Given the description of an element on the screen output the (x, y) to click on. 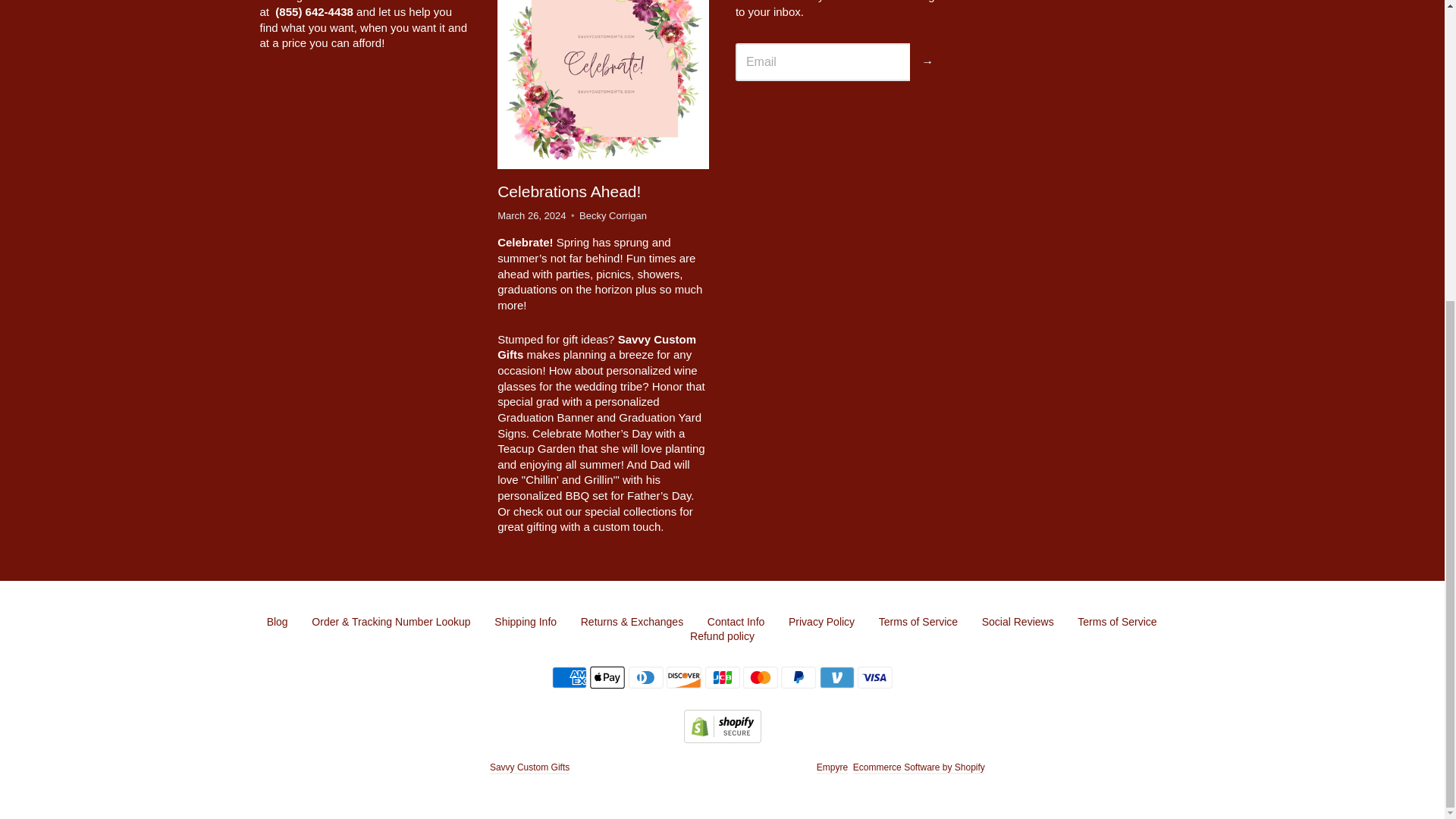
PayPal (797, 677)
Mastercard (759, 677)
Celebrations Ahead! (603, 81)
Apple Pay (606, 677)
Diners Club (645, 677)
This online store is secured by Shopify (722, 738)
Venmo (836, 677)
American Express (568, 677)
Visa (874, 677)
JCB (721, 677)
Discover (683, 677)
